Given the description of an element on the screen output the (x, y) to click on. 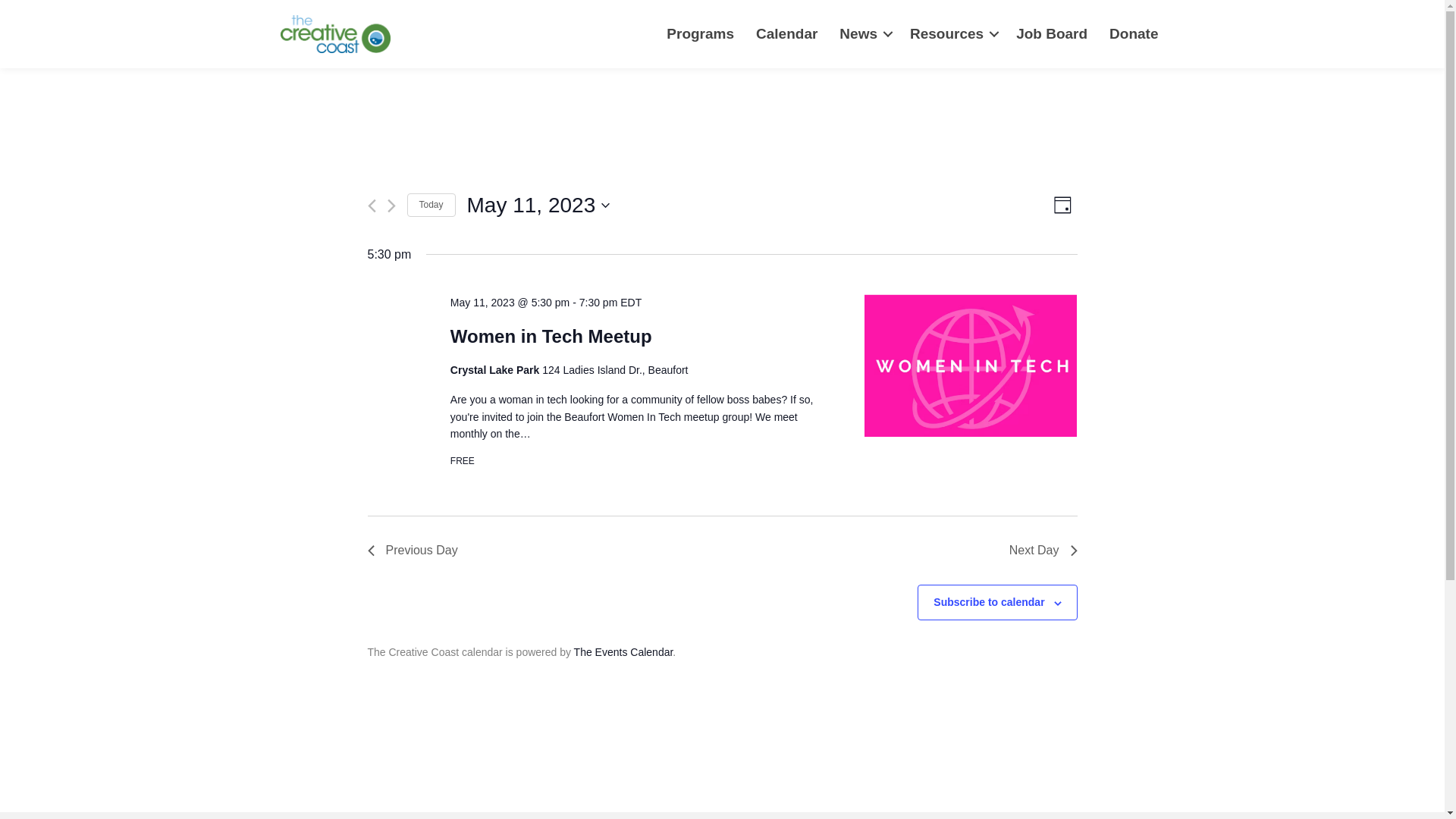
Next Day (1043, 550)
Click to select today's date (430, 205)
Programs (700, 34)
May 11, 2023 (538, 205)
Previous Day (411, 550)
Subscribe to calendar (988, 602)
Next Day (1043, 550)
Job Board (1051, 34)
News (863, 34)
Women in Tech Meetup (550, 336)
Resources (951, 34)
Previous Day (411, 550)
The Creative Coast Logo - full PNG Logo (335, 34)
Click to toggle datepicker (538, 205)
The Events Calendar (622, 652)
